Given the description of an element on the screen output the (x, y) to click on. 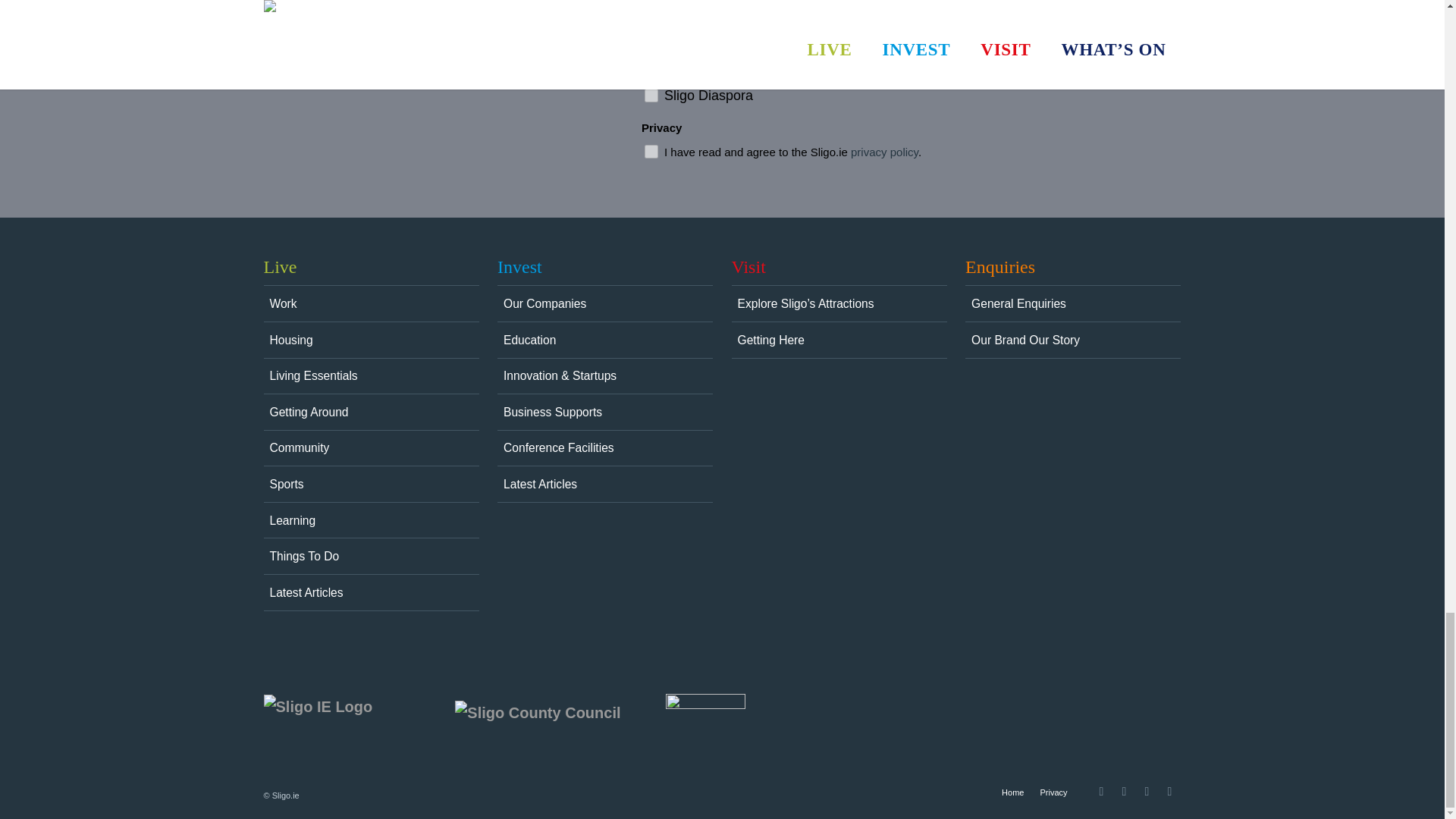
on (651, 151)
on (651, 95)
on (651, 70)
